Given the description of an element on the screen output the (x, y) to click on. 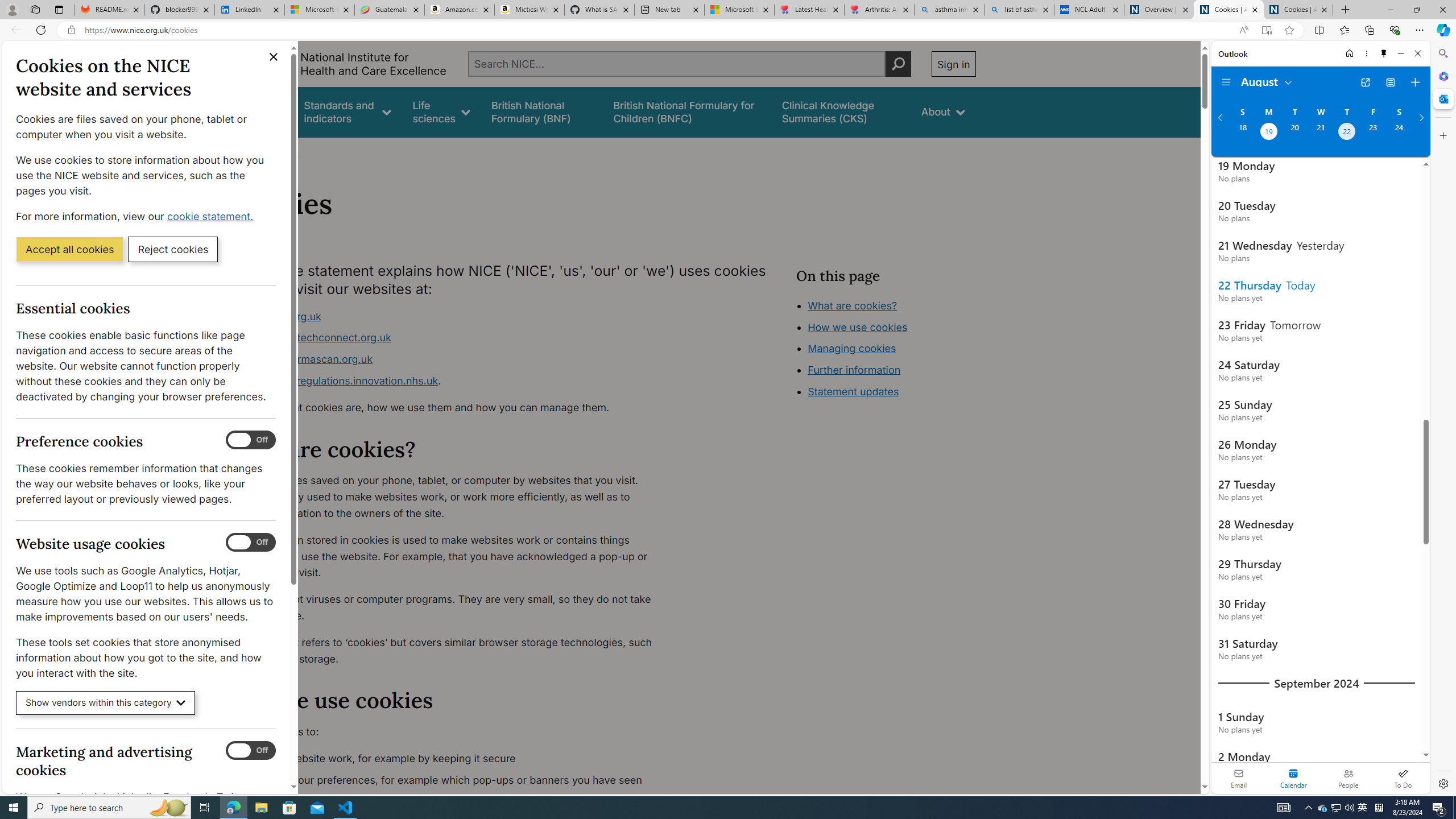
Accept all cookies (69, 248)
www.healthtechconnect.org.uk (452, 338)
How we use cookies (857, 327)
www.nice.org.uk (452, 316)
Reject cookies (173, 248)
